Given the description of an element on the screen output the (x, y) to click on. 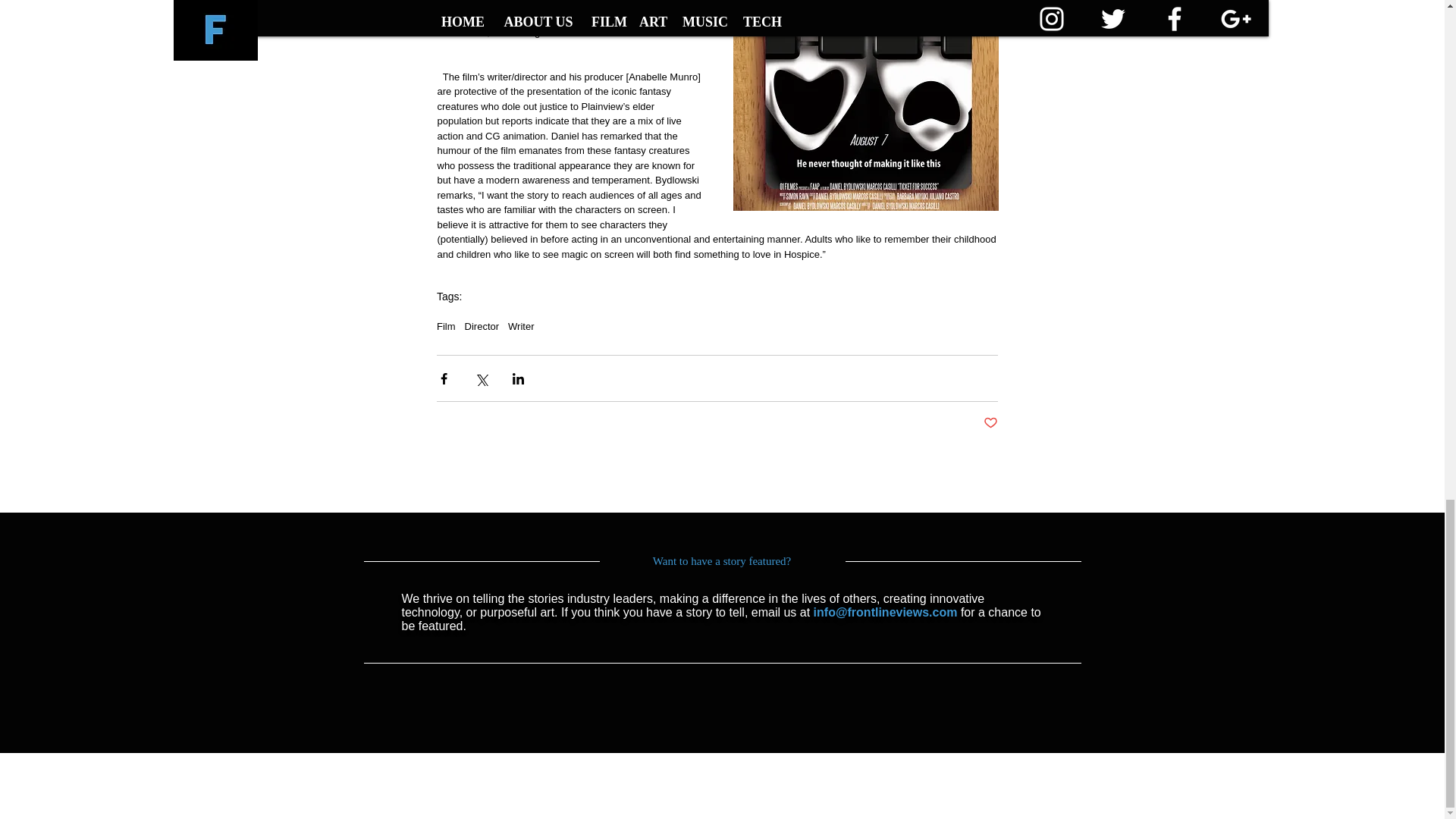
Post not marked as liked (990, 423)
Film (445, 326)
Director (481, 326)
Writer (521, 326)
